Given the description of an element on the screen output the (x, y) to click on. 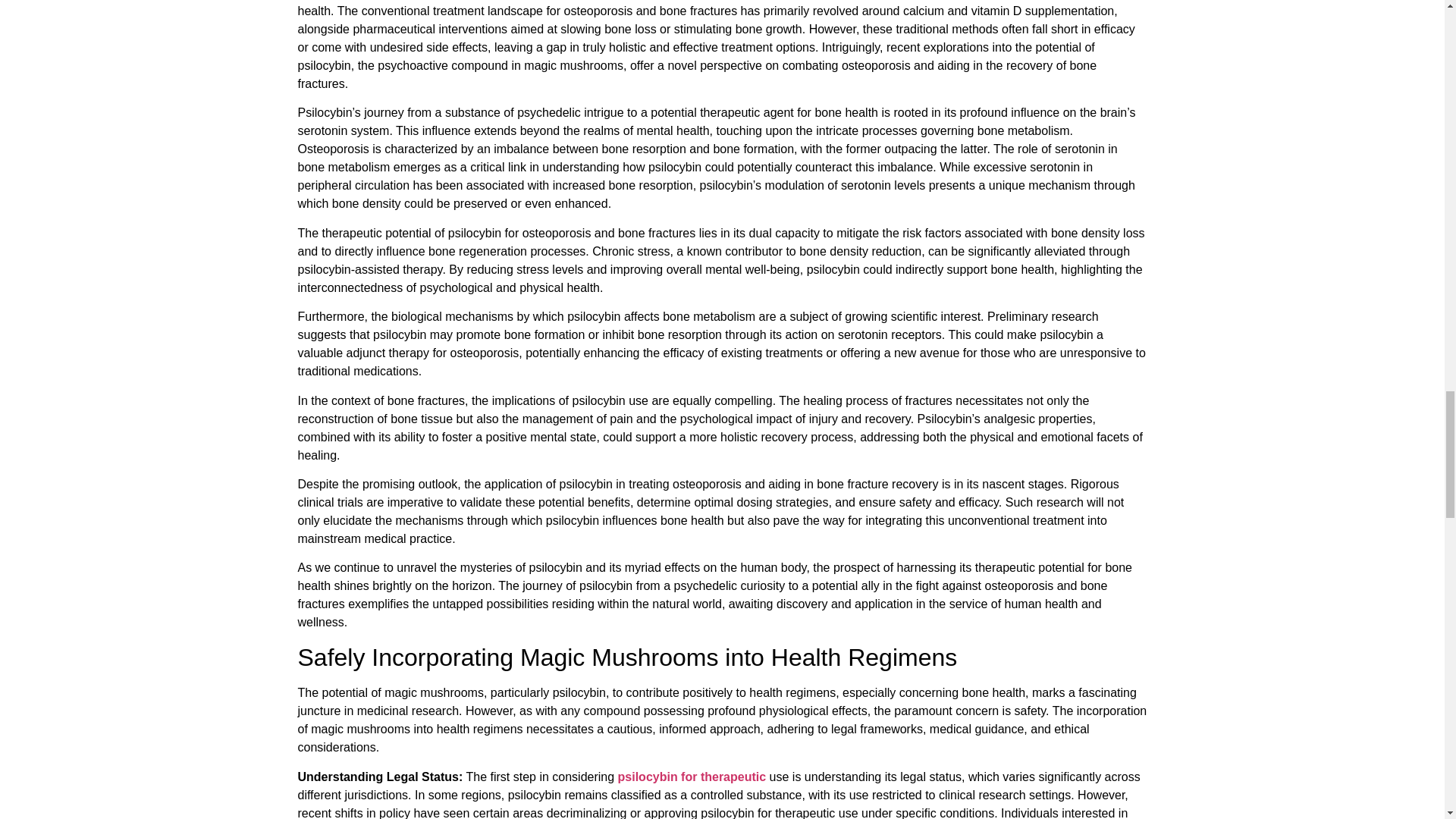
psilocybin for therapeutic (692, 776)
